Given the description of an element on the screen output the (x, y) to click on. 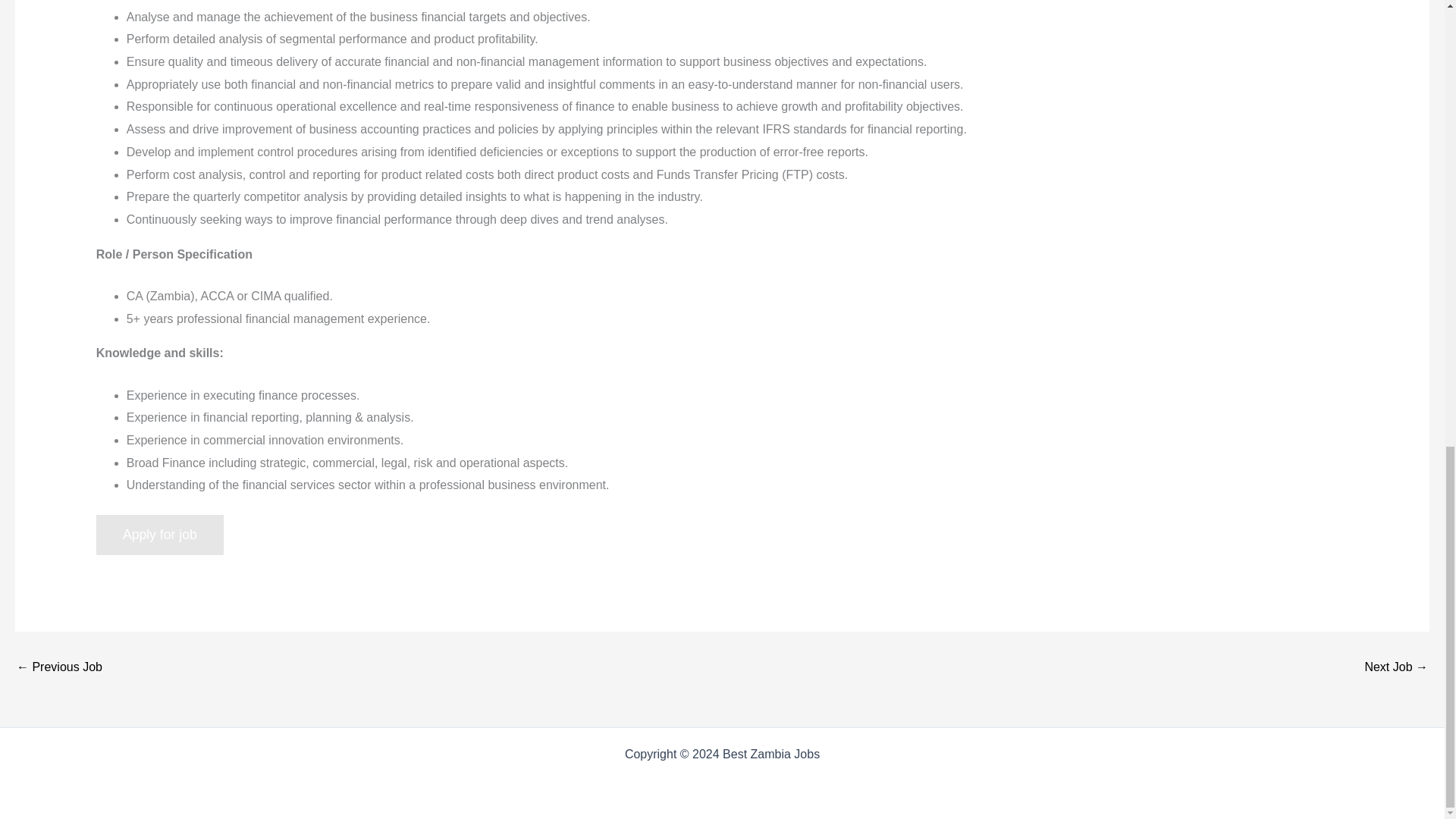
Financial Controller (58, 666)
Receptionist Job in Zambia (1396, 666)
Apply for job (160, 535)
